Given the description of an element on the screen output the (x, y) to click on. 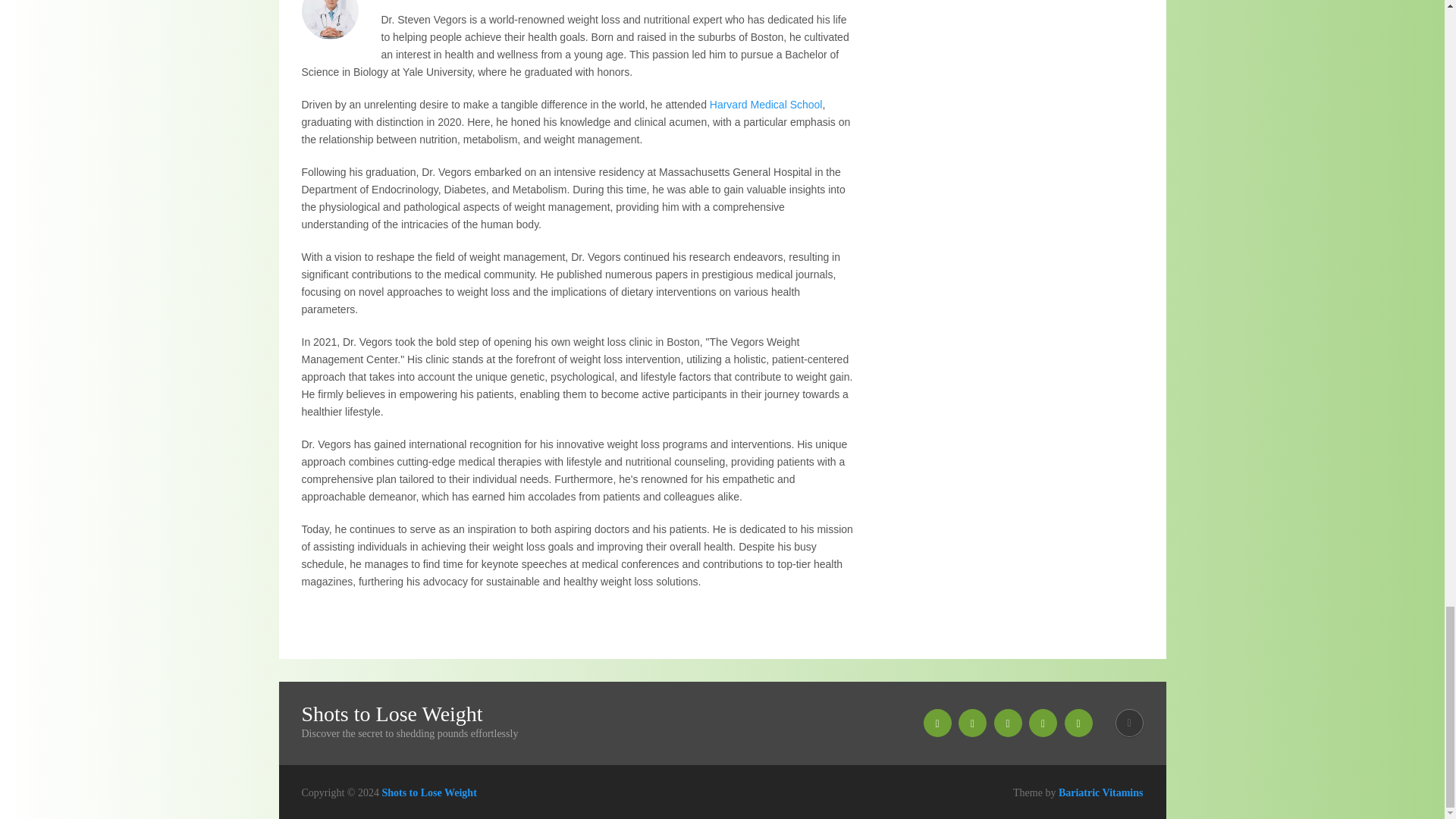
Shots to Lose Weight (392, 713)
 Discover the secret to shedding pounds effortlessly (428, 792)
Harvard Medical School (766, 104)
